Given the description of an element on the screen output the (x, y) to click on. 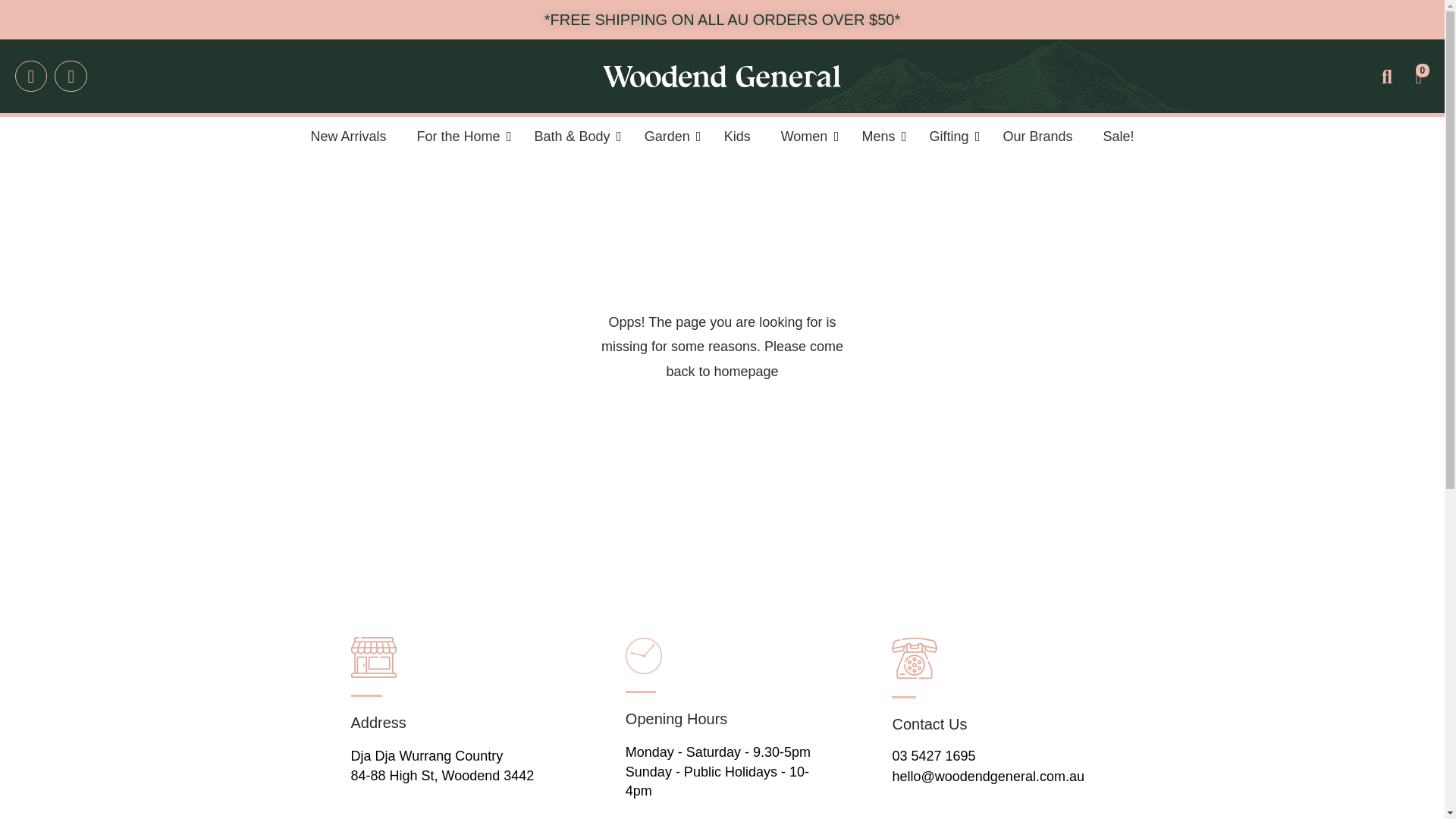
For the Home (460, 137)
Woodend General Logo (721, 75)
New Arrivals (348, 137)
